Given the description of an element on the screen output the (x, y) to click on. 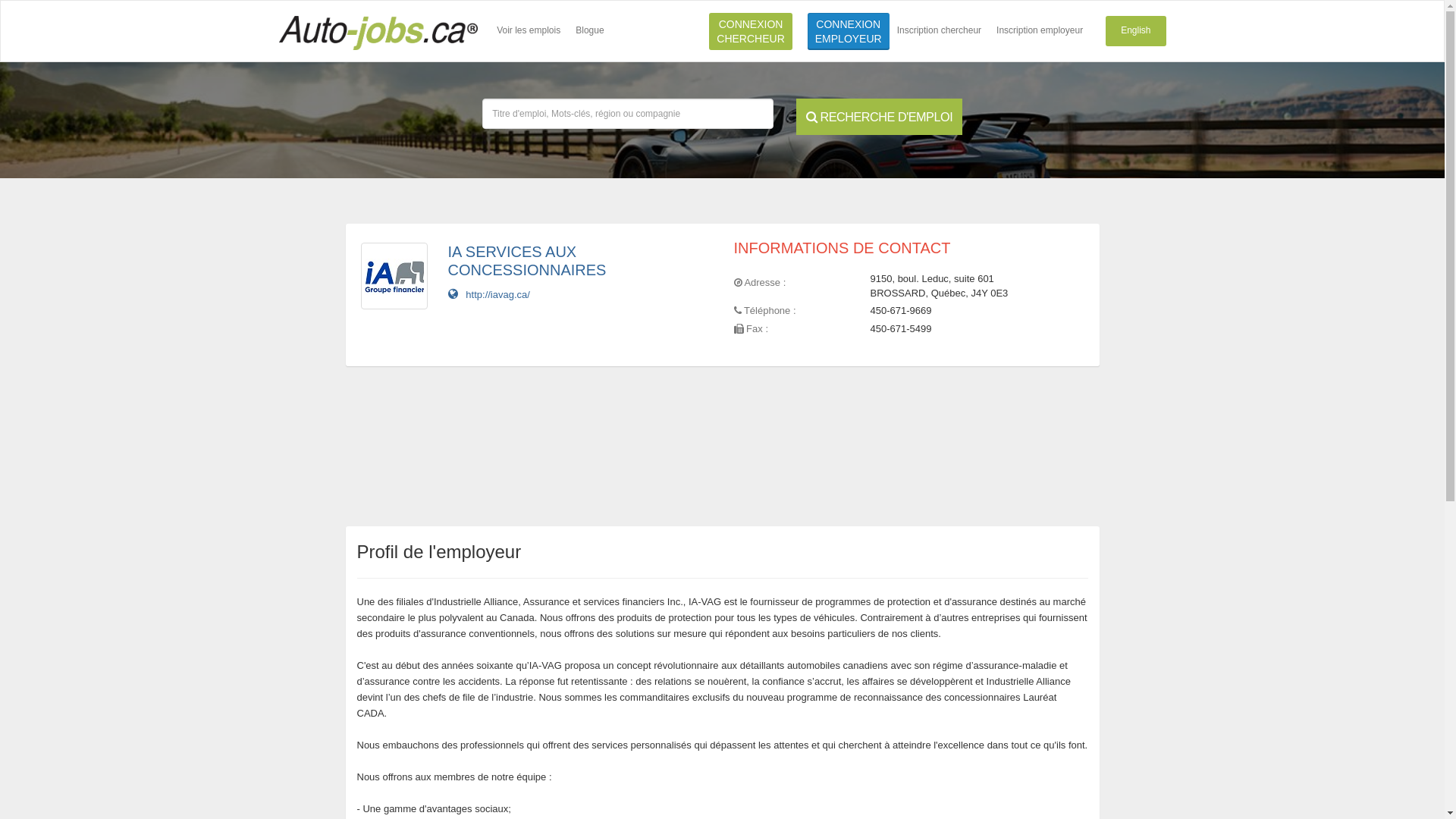
Inscription chercheur Element type: text (938, 30)
RECHERCHE D'EMPLOI Element type: text (879, 116)
Auto-jobs.ca Element type: hover (377, 30)
Inscription employeur Element type: text (1039, 30)
Voir les emplois Element type: text (528, 30)
   http://iavag.ca/ Element type: text (488, 294)
Blogue Element type: text (589, 30)
English Element type: text (1135, 30)
CONNEXION
EMPLOYEUR Element type: text (848, 31)
CONNEXION
CHERCHEUR Element type: text (750, 31)
